Given the description of an element on the screen output the (x, y) to click on. 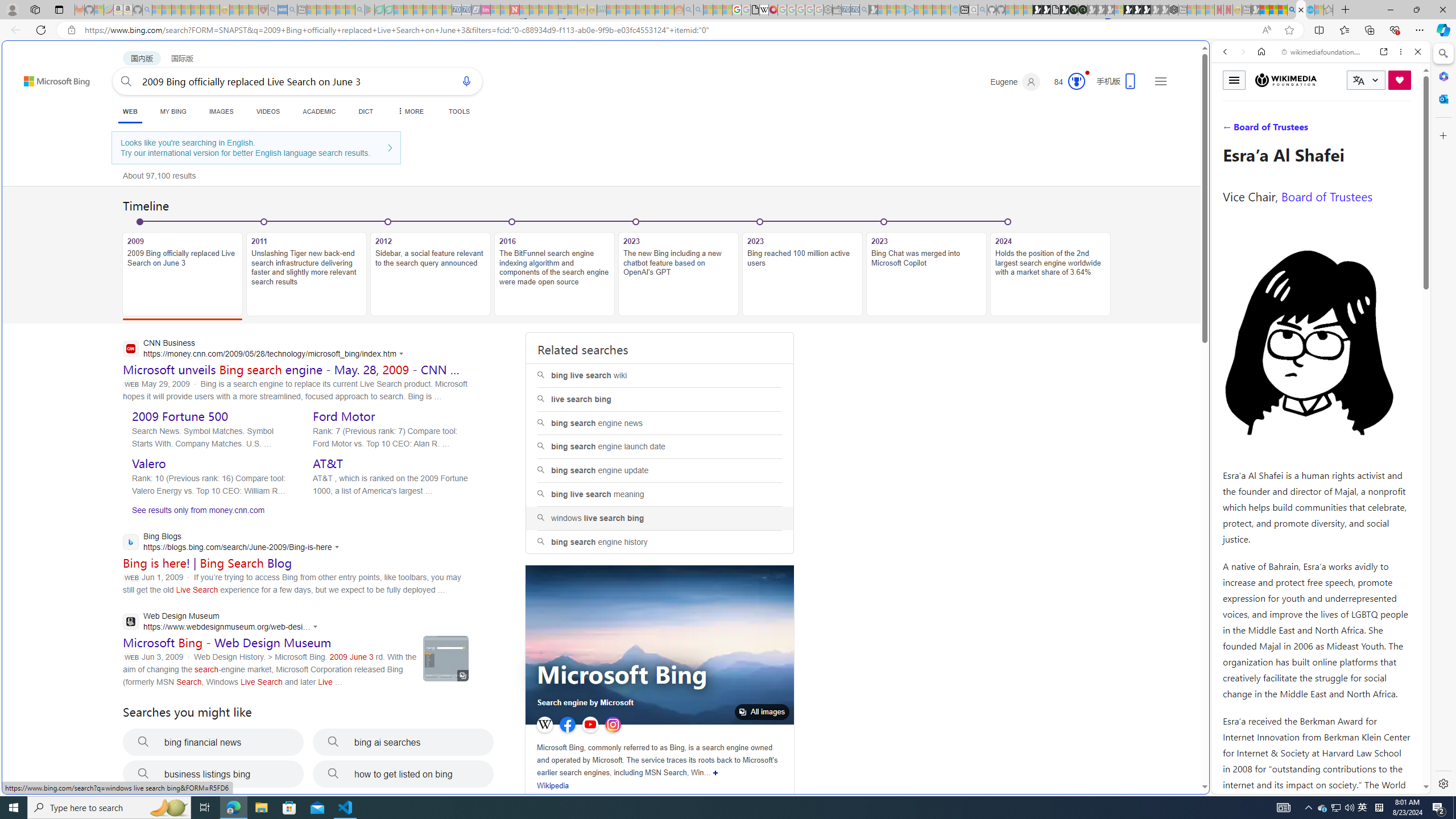
WEB (129, 111)
Bing is here! | Bing Search Blog (207, 562)
Close Customize pane (1442, 135)
See results only from money.cnn.com (193, 512)
Wikimedia Foundation (1285, 79)
The Weather Channel - MSN - Sleeping (175, 9)
Board of Trustees (1326, 195)
